Given the description of an element on the screen output the (x, y) to click on. 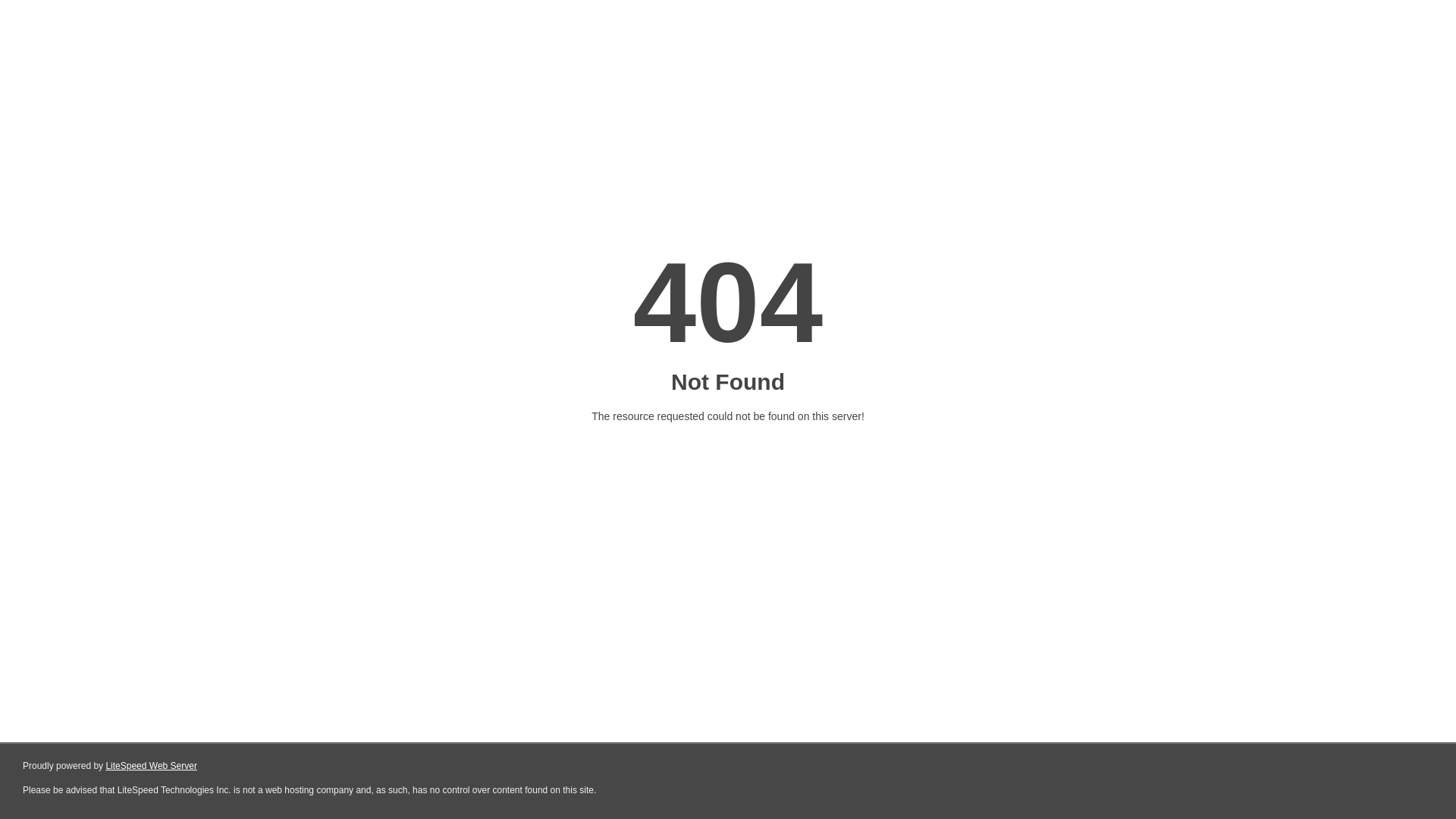
LiteSpeed Web Server Element type: text (151, 765)
